Given the description of an element on the screen output the (x, y) to click on. 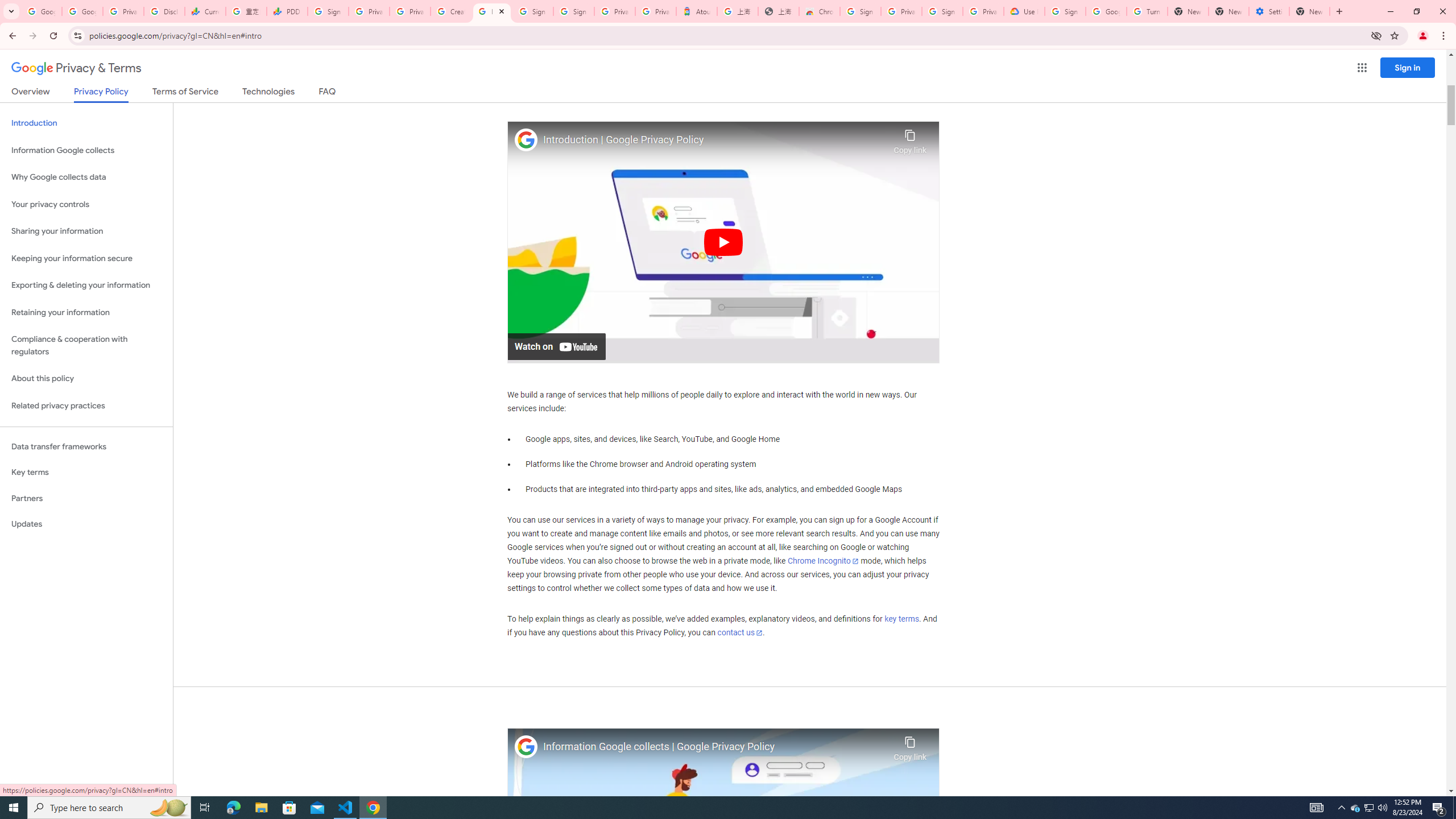
Chrome Incognito (823, 561)
Google Workspace Admin Community (41, 11)
Currencies - Google Finance (205, 11)
PDD Holdings Inc - ADR (PDD) Price & News - Google Finance (287, 11)
